Given the description of an element on the screen output the (x, y) to click on. 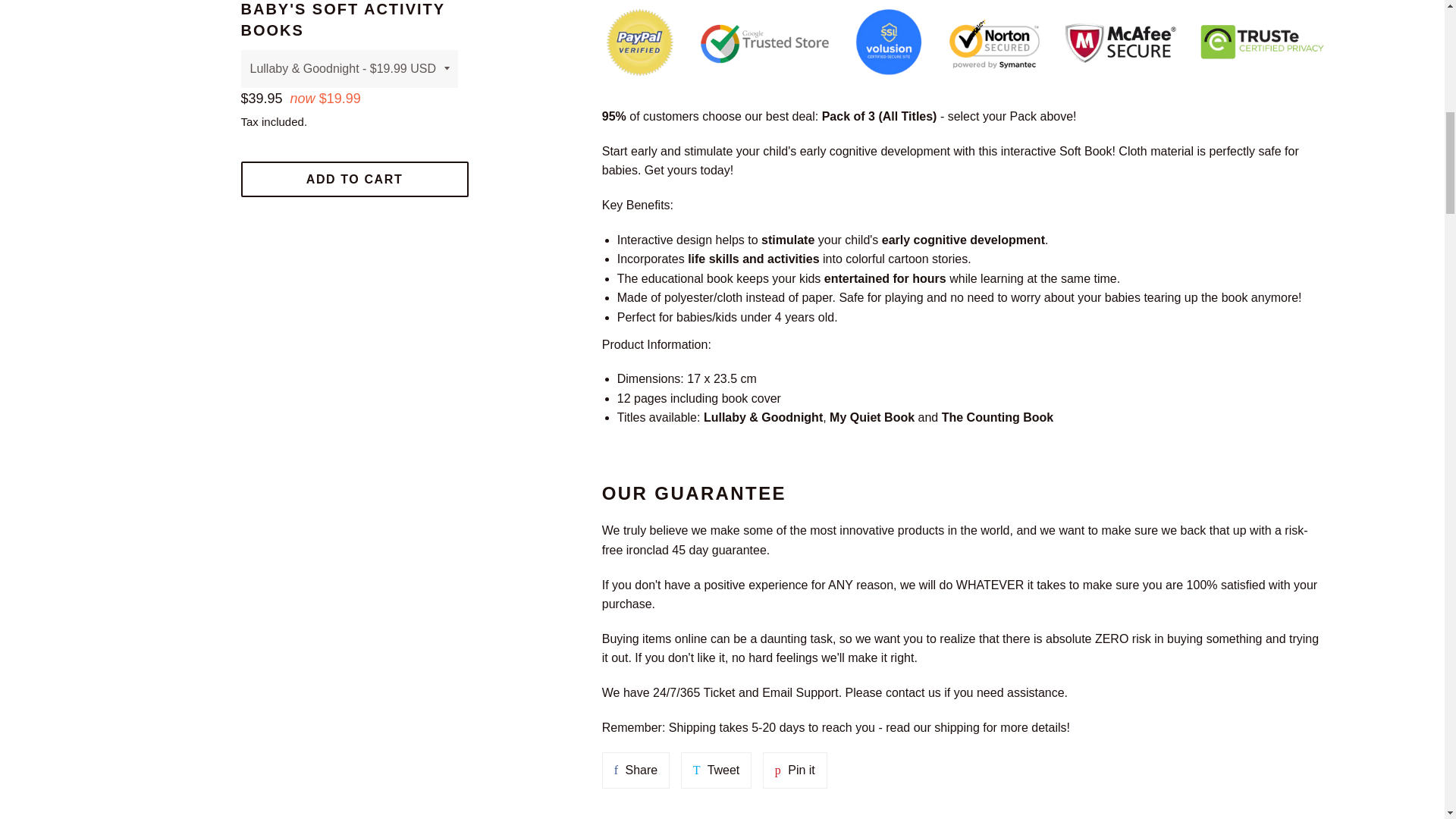
ADD TO CART (635, 770)
Share on Facebook (354, 179)
Pin on Pinterest (635, 770)
Tweet on Twitter (794, 770)
